Given the description of an element on the screen output the (x, y) to click on. 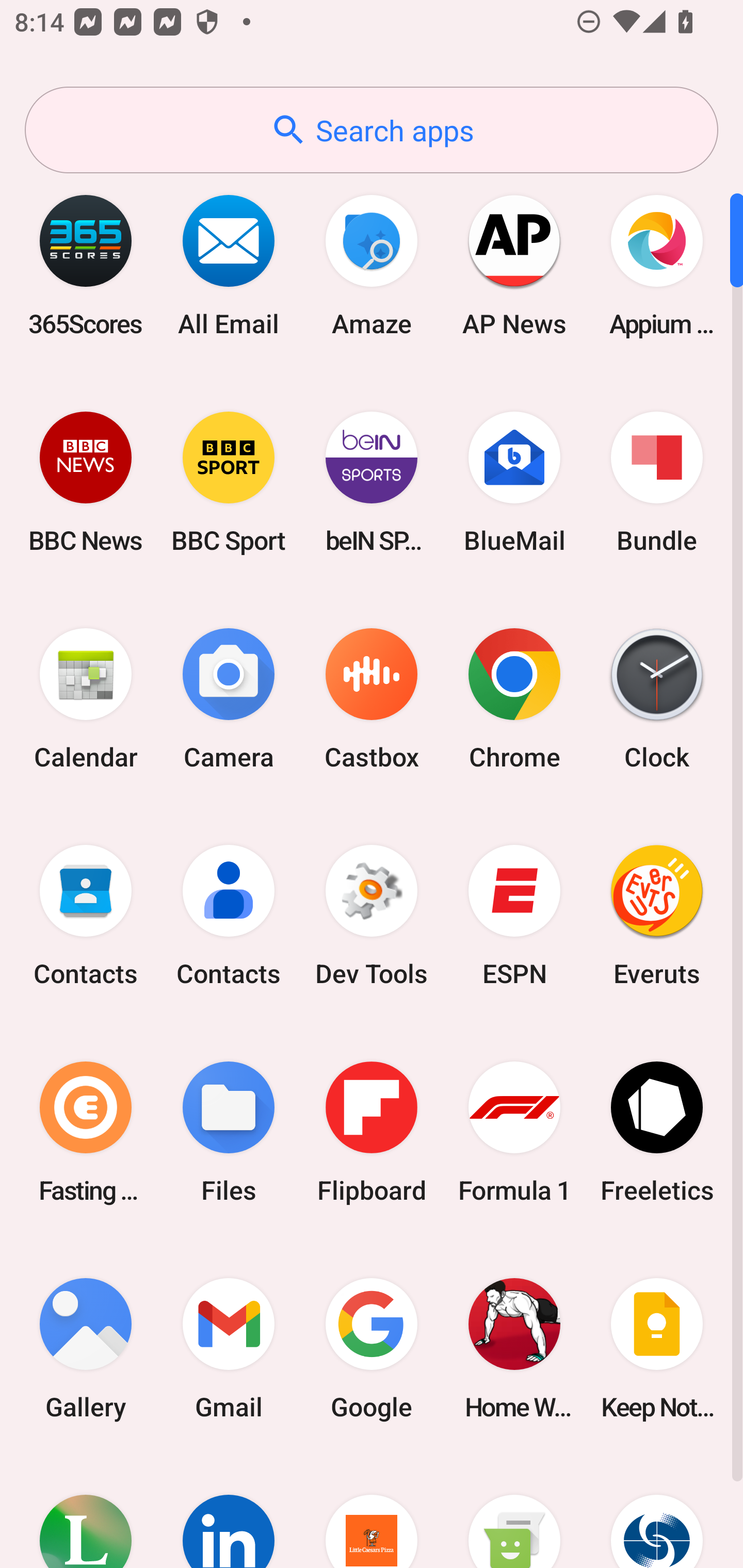
  Search apps (371, 130)
365Scores (85, 264)
All Email (228, 264)
Amaze (371, 264)
AP News (514, 264)
Appium Settings (656, 264)
BBC News (85, 482)
BBC Sport (228, 482)
beIN SPORTS (371, 482)
BlueMail (514, 482)
Bundle (656, 482)
Calendar (85, 699)
Camera (228, 699)
Castbox (371, 699)
Chrome (514, 699)
Clock (656, 699)
Contacts (85, 915)
Contacts (228, 915)
Dev Tools (371, 915)
ESPN (514, 915)
Everuts (656, 915)
Fasting Coach (85, 1131)
Files (228, 1131)
Flipboard (371, 1131)
Formula 1 (514, 1131)
Freeletics (656, 1131)
Gallery (85, 1348)
Gmail (228, 1348)
Google (371, 1348)
Home Workout (514, 1348)
Keep Notes (656, 1348)
